Given the description of an element on the screen output the (x, y) to click on. 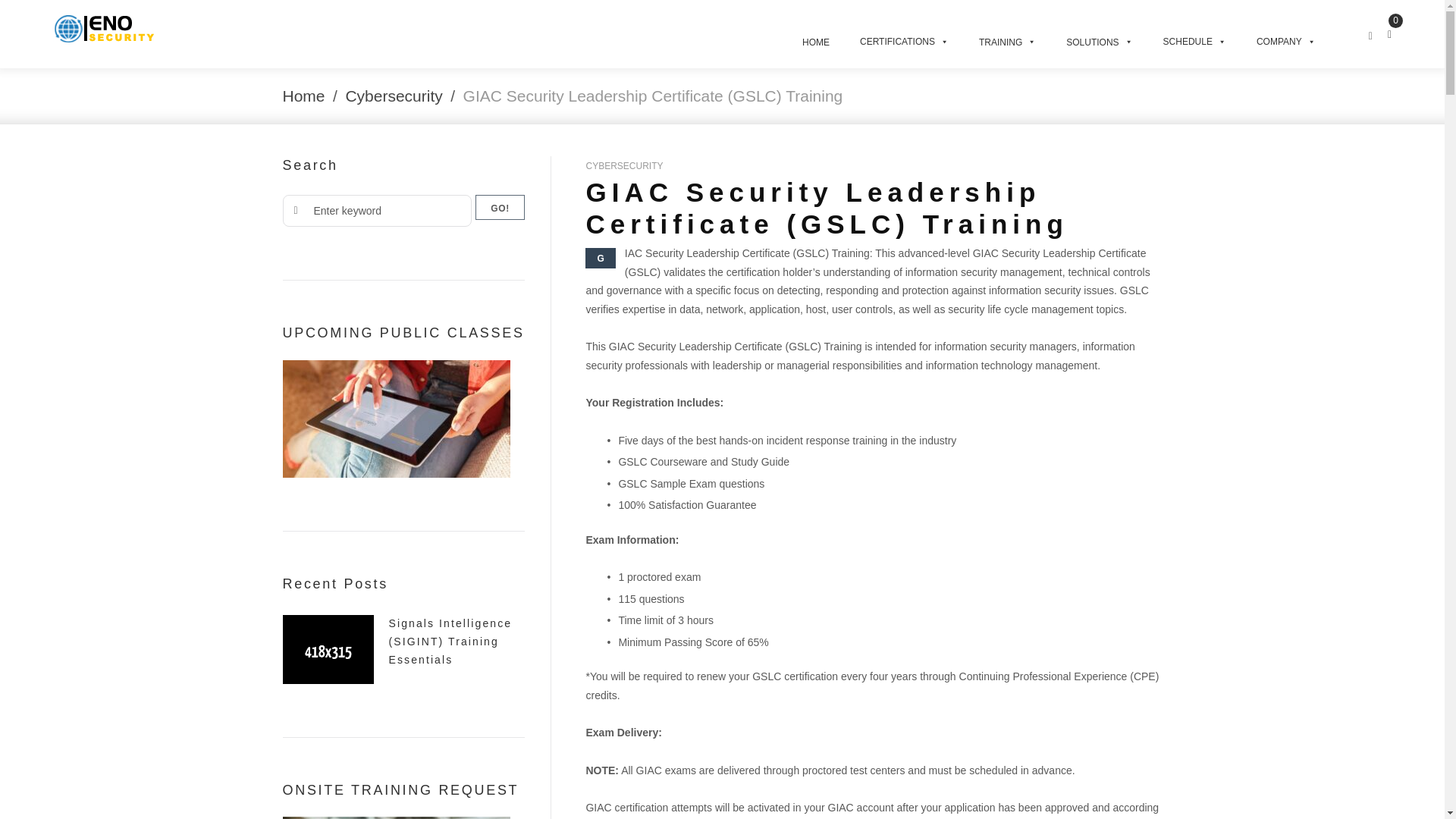
UPCOMING PUBLIC CLASSES (395, 418)
CERTIFICATIONS (903, 33)
Search for: (376, 210)
SOLUTIONS (1099, 33)
Cybersecurity (393, 95)
TRAINING (1007, 33)
Home (303, 95)
HOME (815, 33)
